Given the description of an element on the screen output the (x, y) to click on. 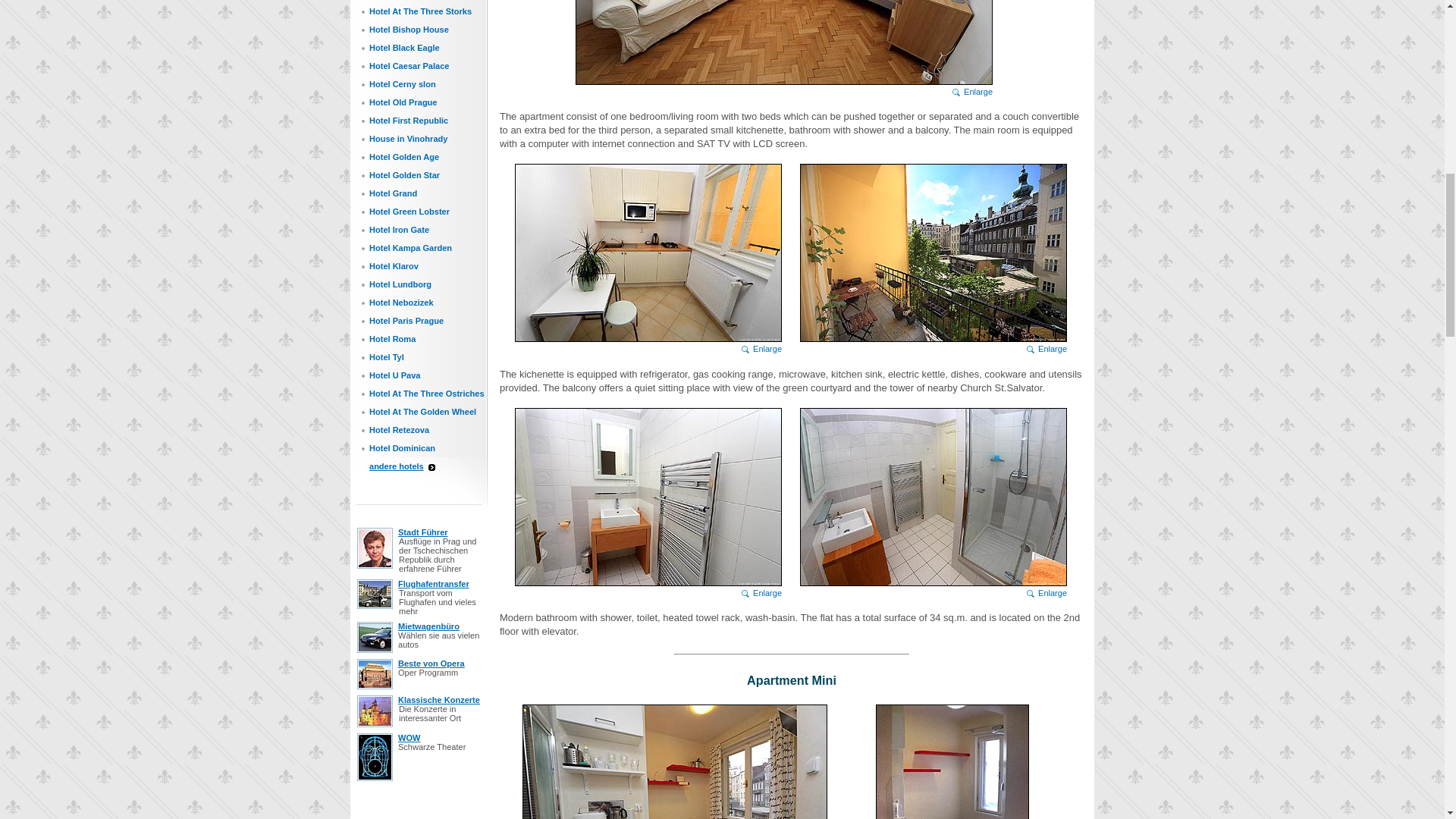
Kitchnette (761, 347)
Balcony (933, 258)
Balcony (1046, 347)
Balcony (933, 252)
Enlarge (761, 347)
Kitchnette (648, 252)
Bathroom (648, 502)
Enlarge (761, 592)
Enlarge (972, 91)
Kitchnette (648, 258)
